Given the description of an element on the screen output the (x, y) to click on. 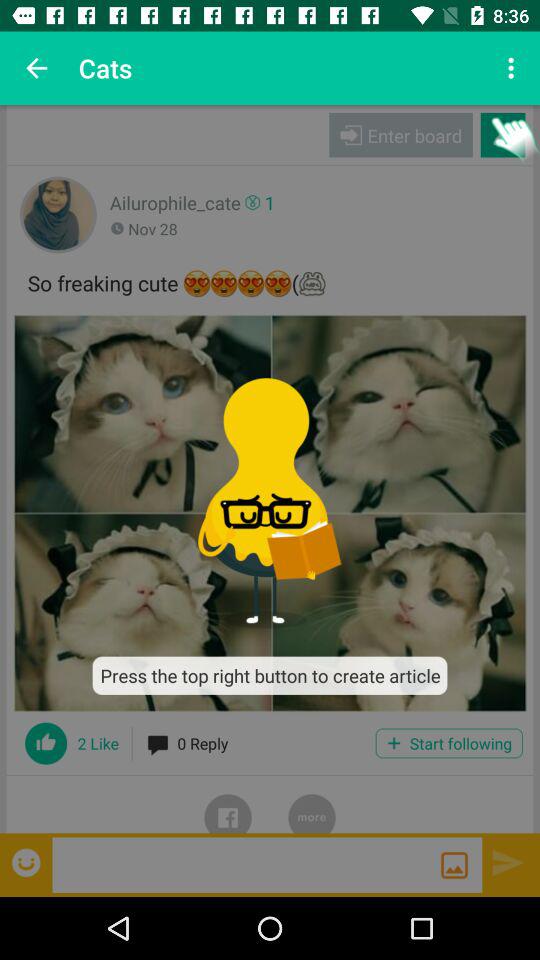
open image gallery (454, 865)
